Given the description of an element on the screen output the (x, y) to click on. 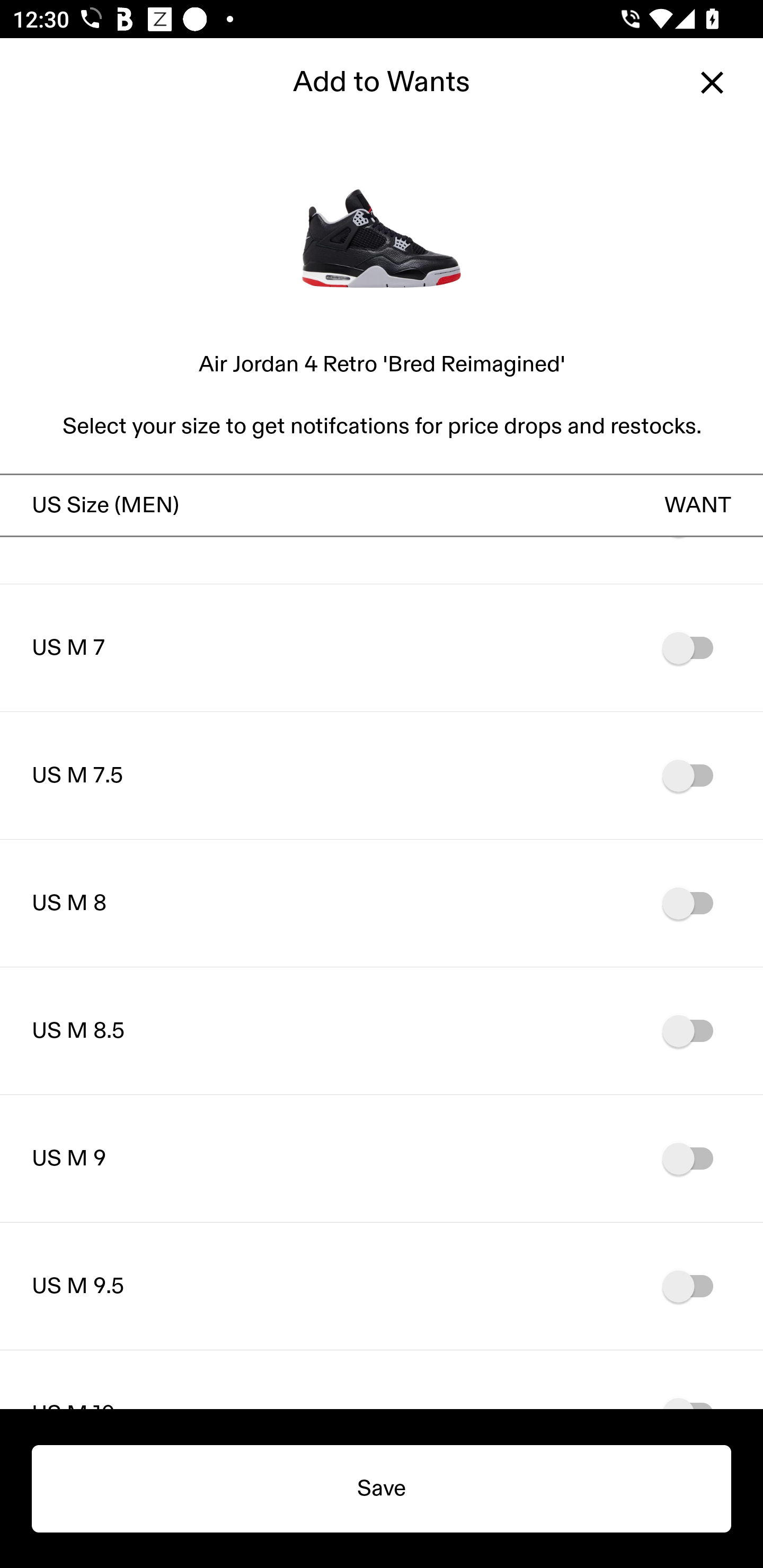
Save (381, 1488)
